Given the description of an element on the screen output the (x, y) to click on. 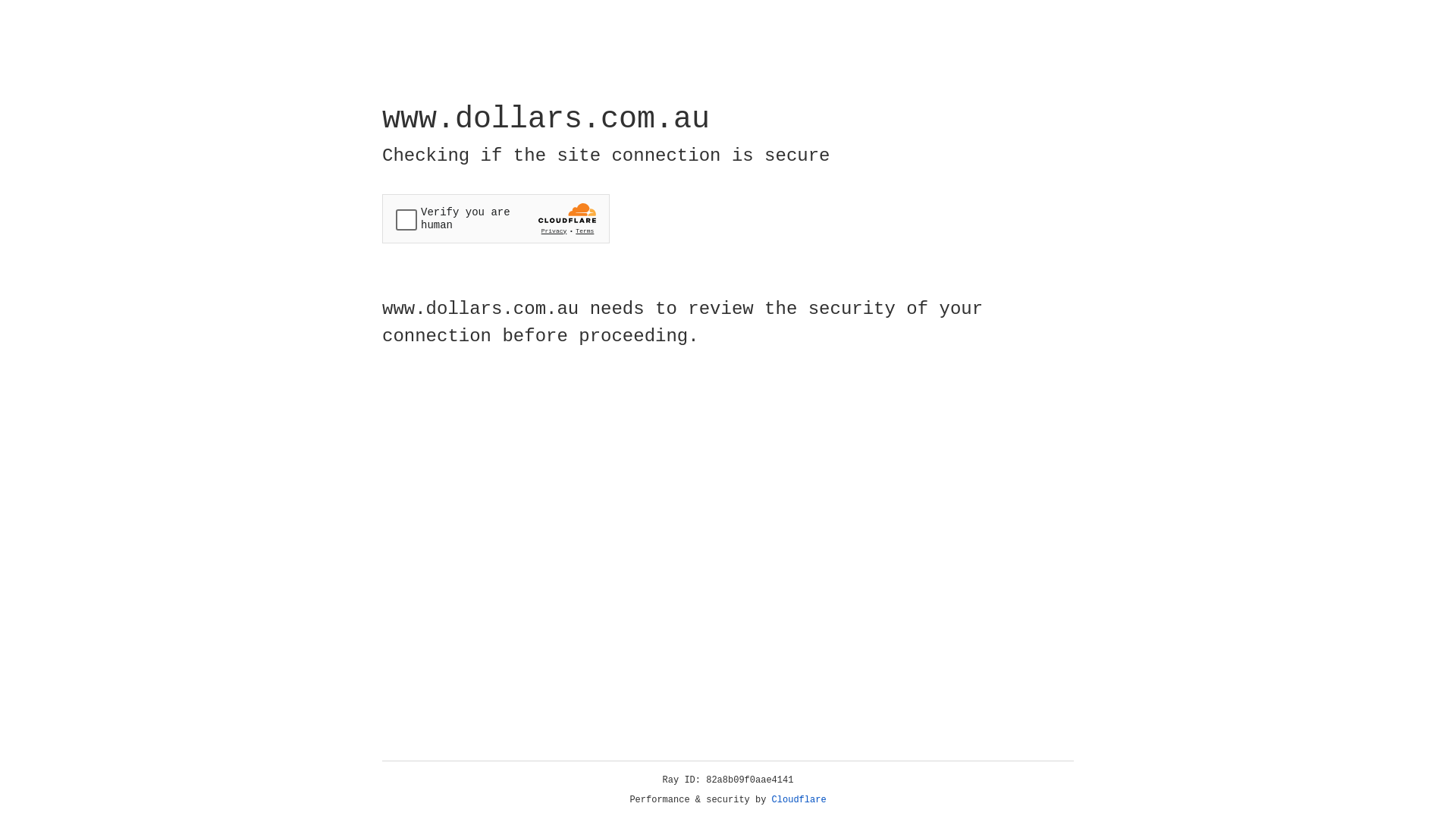
Cloudflare Element type: text (798, 799)
Widget containing a Cloudflare security challenge Element type: hover (495, 218)
